Given the description of an element on the screen output the (x, y) to click on. 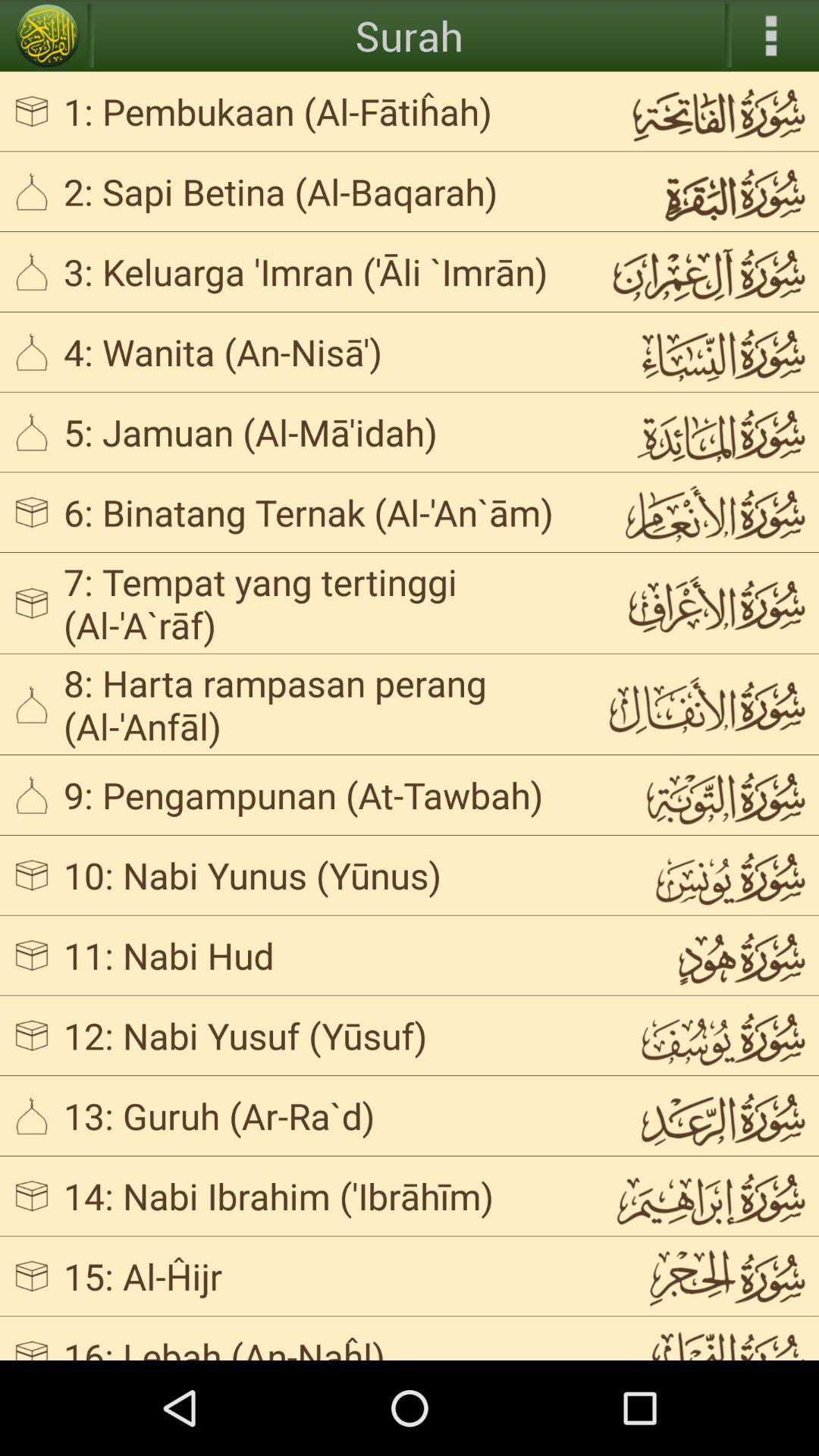
flip to 2 sapi betina app (322, 191)
